Given the description of an element on the screen output the (x, y) to click on. 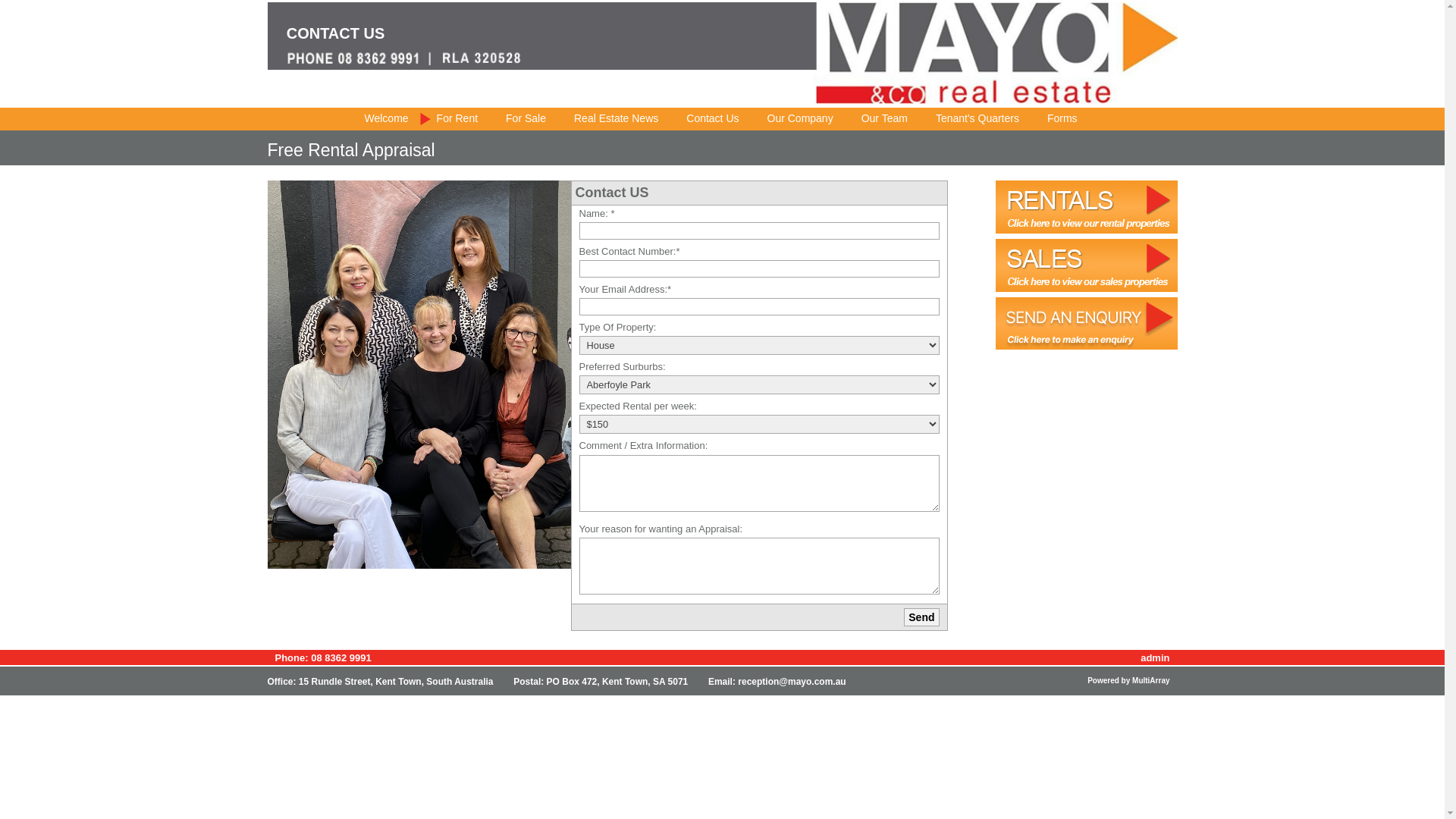
MultiArray Element type: text (1150, 680)
Send Element type: text (920, 617)
Our Company Element type: text (790, 118)
Forms Element type: text (1052, 118)
admin Element type: text (1154, 657)
Real Estate News Element type: text (606, 118)
Contact Us Element type: text (702, 118)
CONTACT US Element type: text (335, 33)
08 8362 9991 Element type: text (340, 657)
reception@mayo.com.au Element type: text (791, 681)
Tenant's Quarters Element type: text (967, 118)
For Rent Element type: text (447, 118)
For Sale Element type: text (516, 118)
Our Team Element type: text (874, 118)
Welcome Element type: text (376, 118)
